Given the description of an element on the screen output the (x, y) to click on. 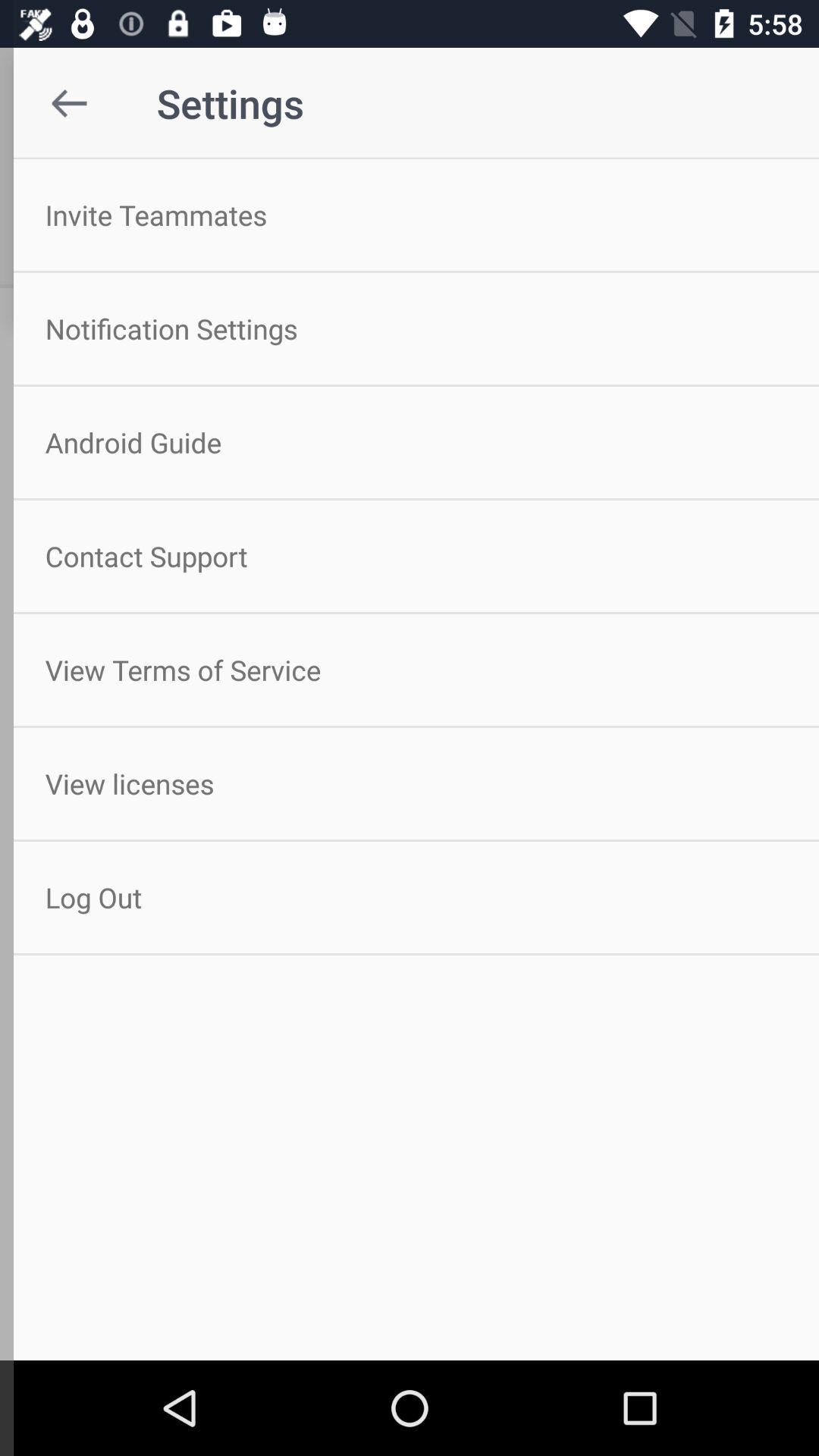
select the item above view licenses (409, 669)
